Given the description of an element on the screen output the (x, y) to click on. 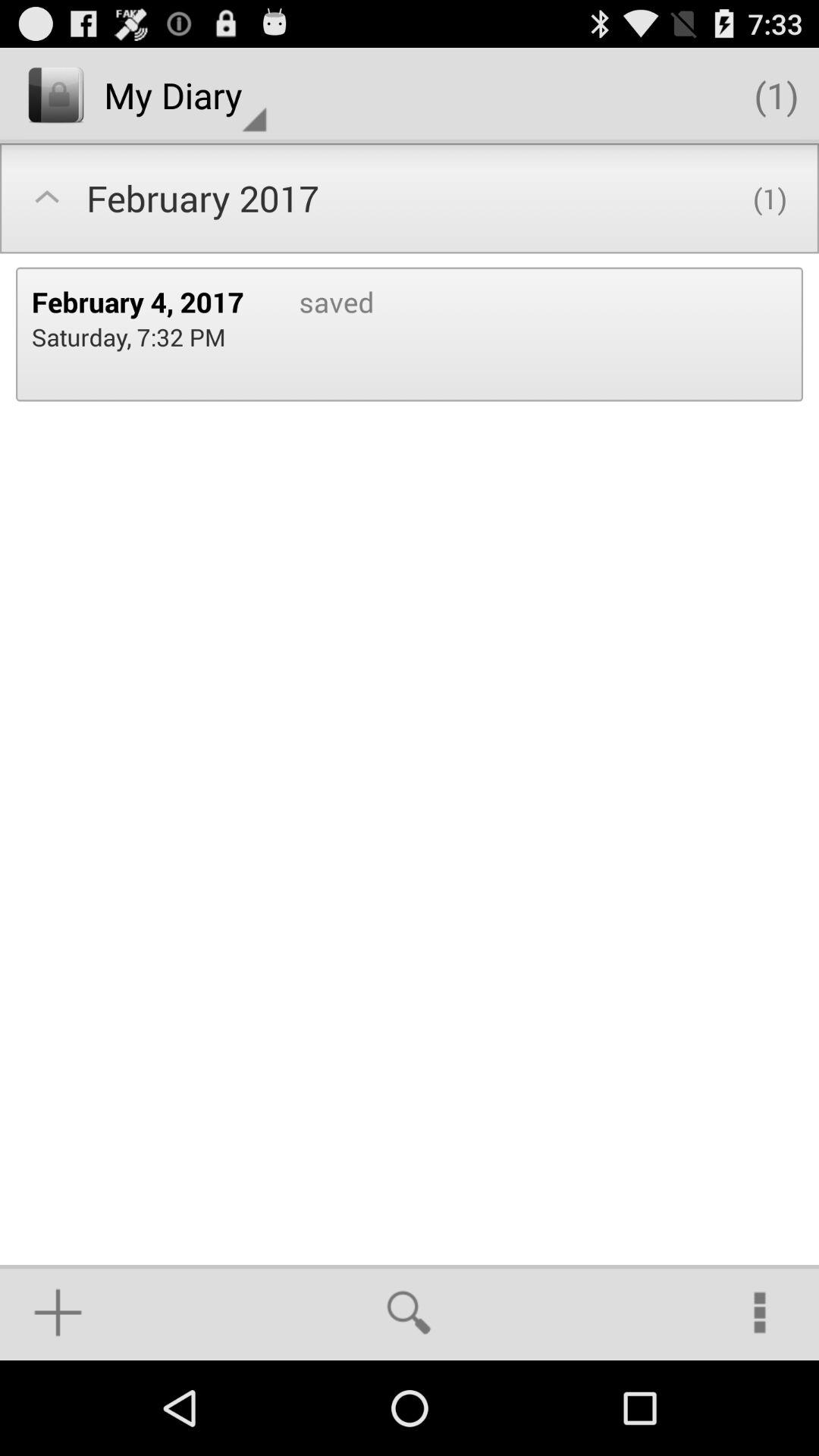
turn off item at the bottom (408, 1312)
